Given the description of an element on the screen output the (x, y) to click on. 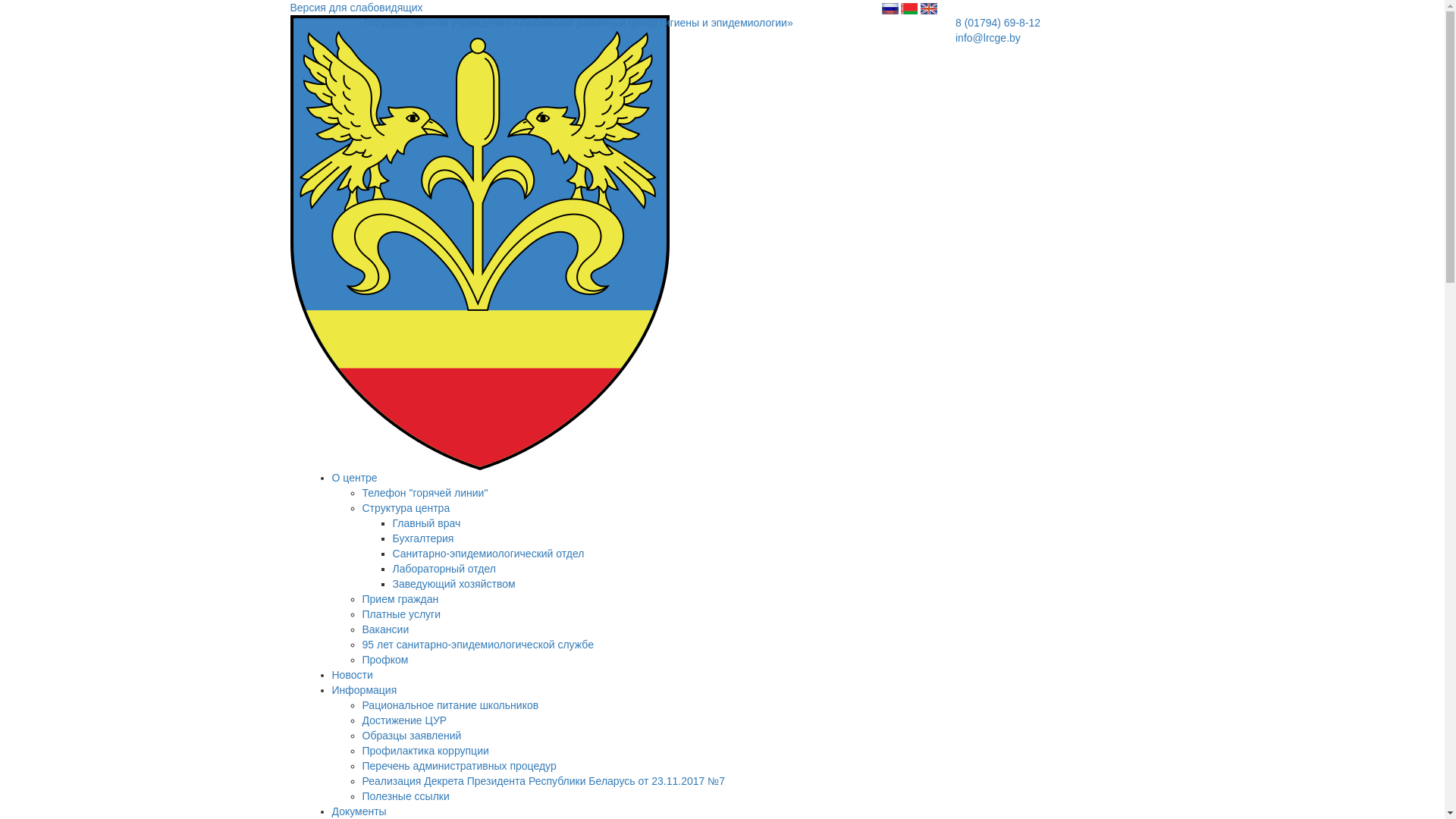
8 (01794) 69-8-12 Element type: text (997, 22)
info@lrcge.by Element type: text (987, 37)
